Given the description of an element on the screen output the (x, y) to click on. 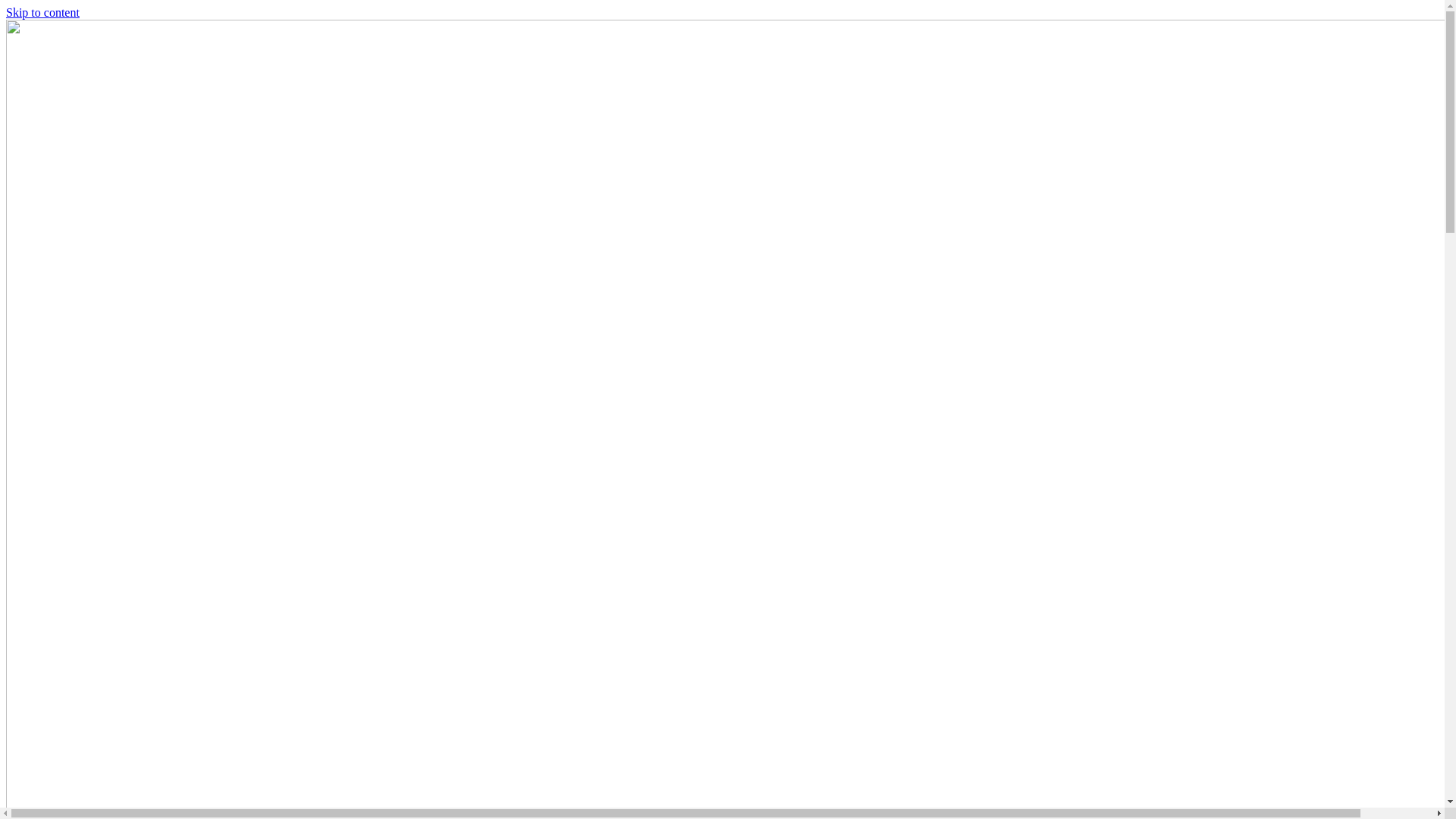
Skip to content Element type: text (42, 12)
